Given the description of an element on the screen output the (x, y) to click on. 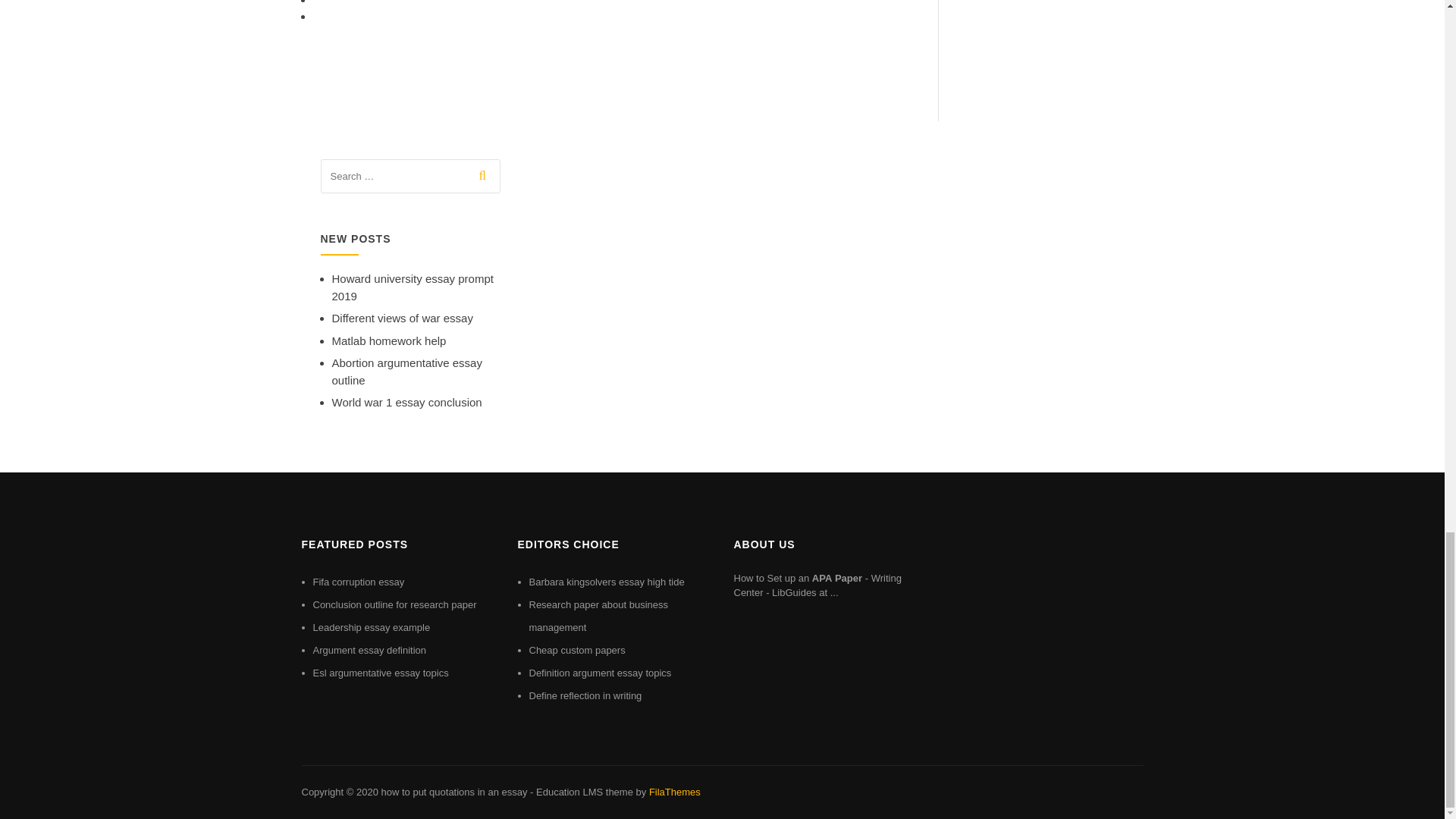
Matlab homework help (388, 340)
Esl argumentative essay topics (380, 672)
Howard university essay prompt 2019 (412, 286)
Cheap custom papers (577, 650)
Argument essay definition (369, 650)
Barbara kingsolvers essay high tide (606, 582)
Define reflection in writing (585, 695)
how to put quotations in an essay (453, 791)
how to put quotations in an essay (453, 791)
Conclusion outline for research paper (394, 604)
Abortion argumentative essay outline (406, 371)
Definition argument essay topics (600, 672)
Research paper about business management (598, 615)
World war 1 essay conclusion (406, 401)
Leadership essay example (371, 627)
